Given the description of an element on the screen output the (x, y) to click on. 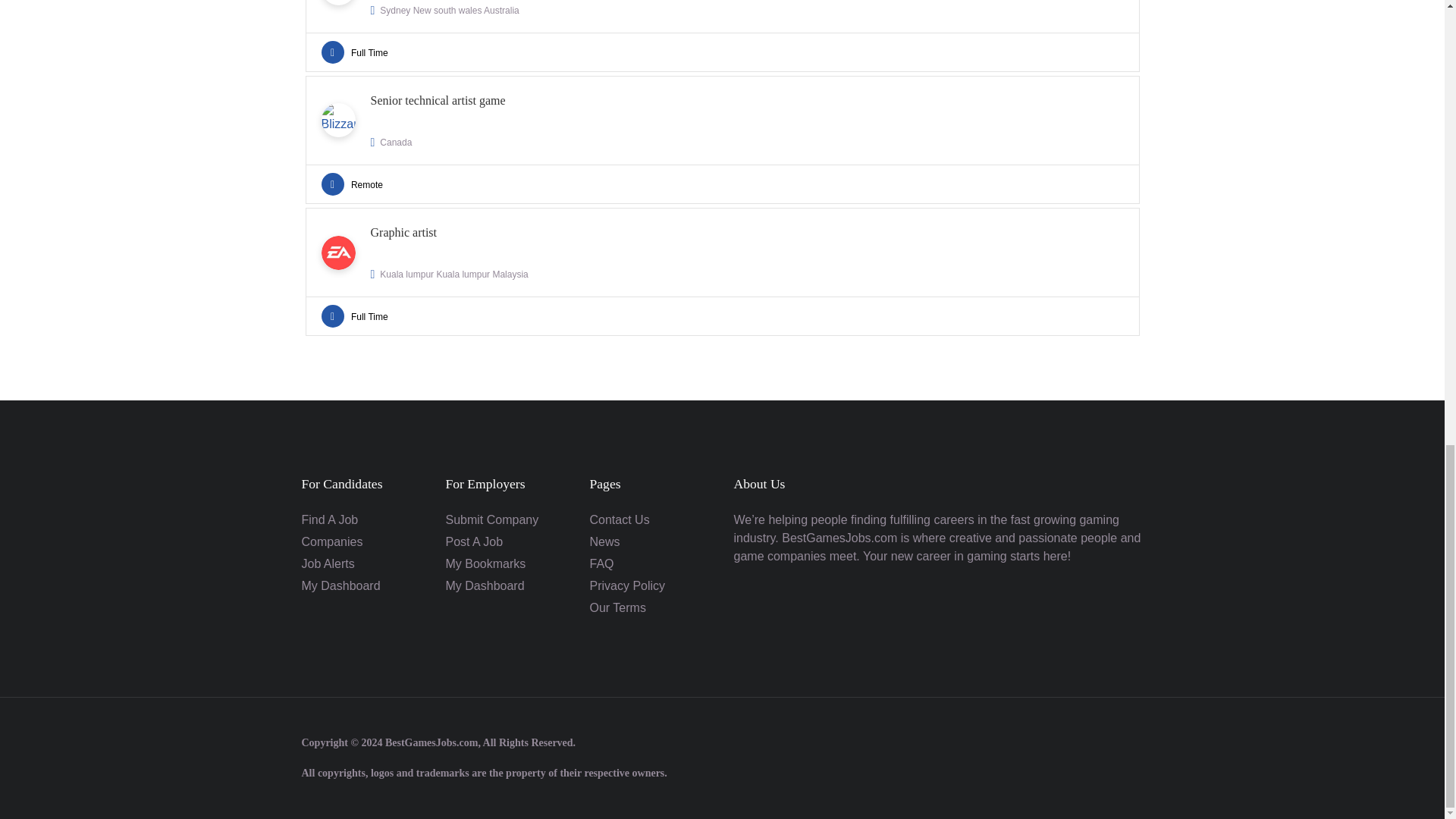
Find A Job (329, 519)
Companies (721, 271)
Job Alerts (721, 139)
